Given the description of an element on the screen output the (x, y) to click on. 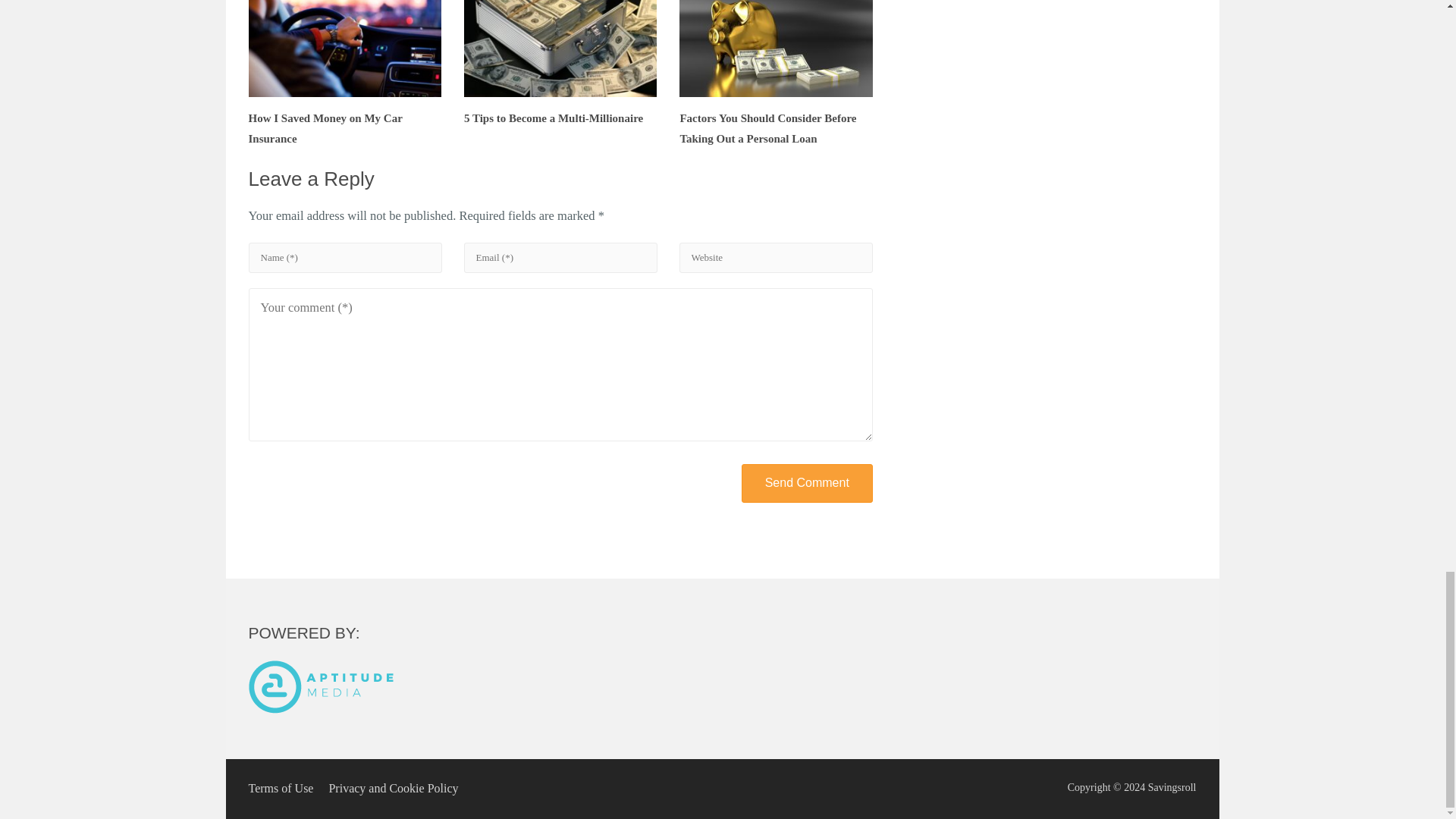
Send Comment (806, 483)
5 Tips to Become a Multi-Millionaire (560, 62)
How I Saved Money on My Car Insurance (344, 72)
Send Comment (806, 483)
